Given the description of an element on the screen output the (x, y) to click on. 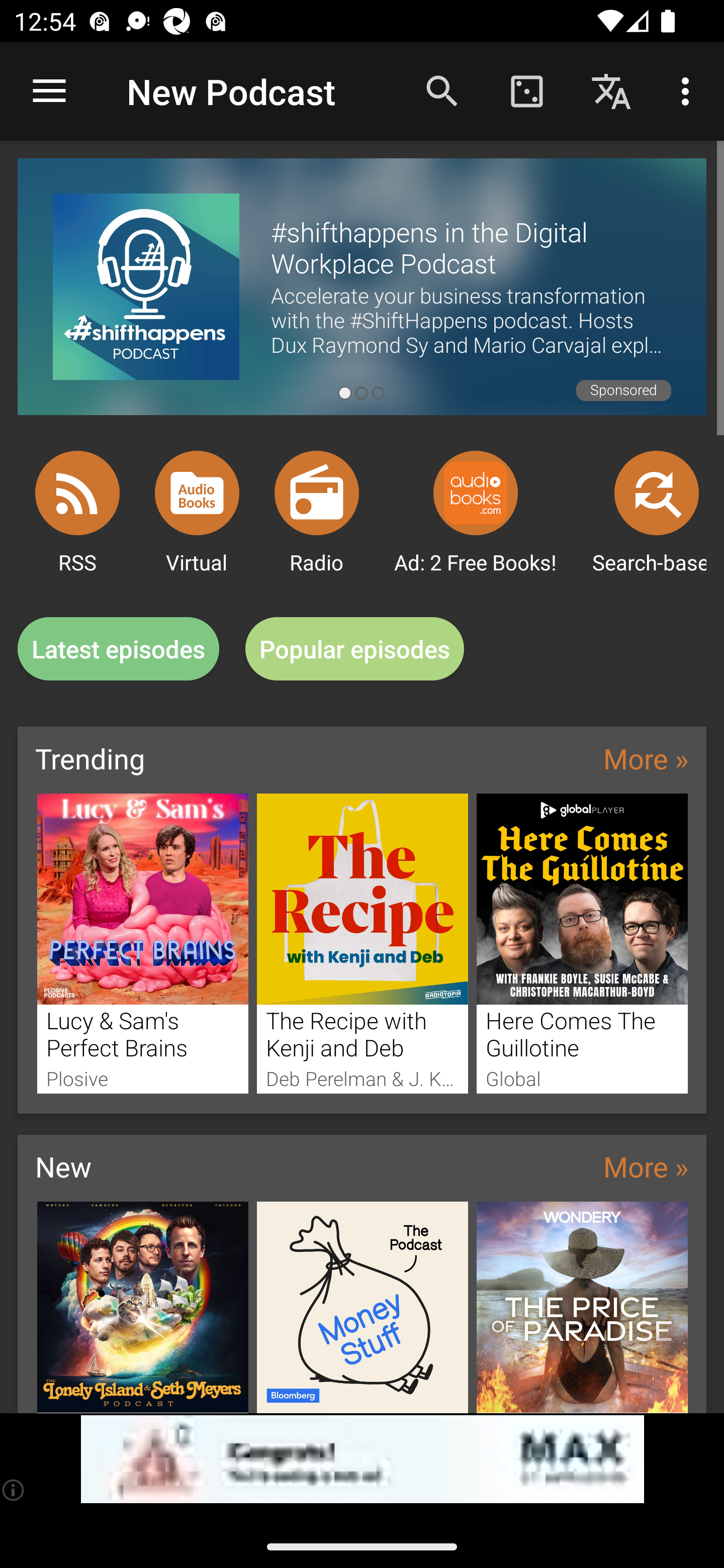
Open navigation sidebar (49, 91)
Search (442, 90)
Random pick (526, 90)
Podcast languages (611, 90)
More options (688, 90)
RSS (77, 492)
Virtual (196, 492)
Radio (316, 492)
Search-based (656, 492)
Latest episodes (118, 648)
Popular episodes (354, 648)
More » (645, 757)
Lucy & Sam's Perfect Brains Plosive (142, 942)
Here Comes The Guillotine Global (581, 942)
More » (645, 1166)
The Lonely Island and Seth Meyers Podcast (142, 1306)
Money Stuff: The Podcast (362, 1306)
The Price of Paradise (581, 1306)
app-monetization (362, 1459)
(i) (14, 1489)
